Given the description of an element on the screen output the (x, y) to click on. 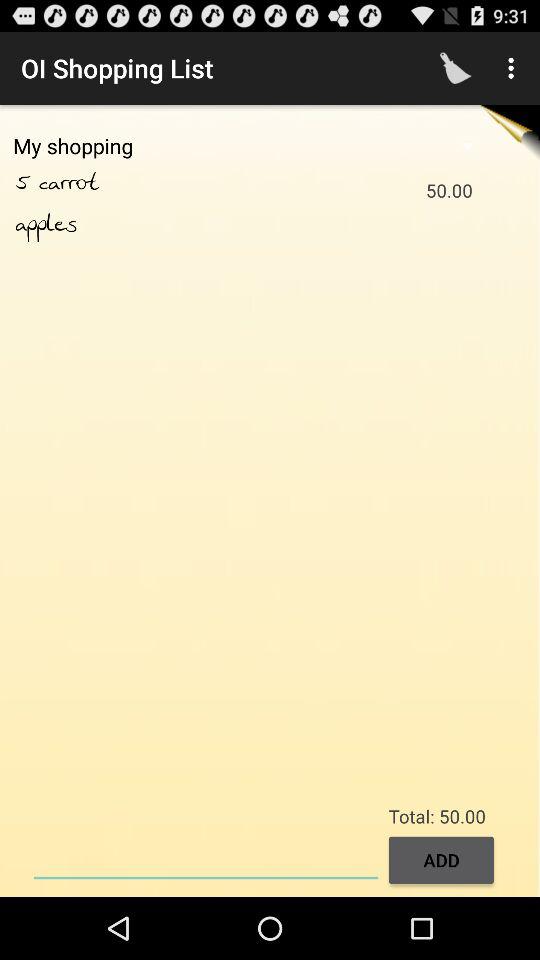
a blank field for typing anything into (205, 858)
